Given the description of an element on the screen output the (x, y) to click on. 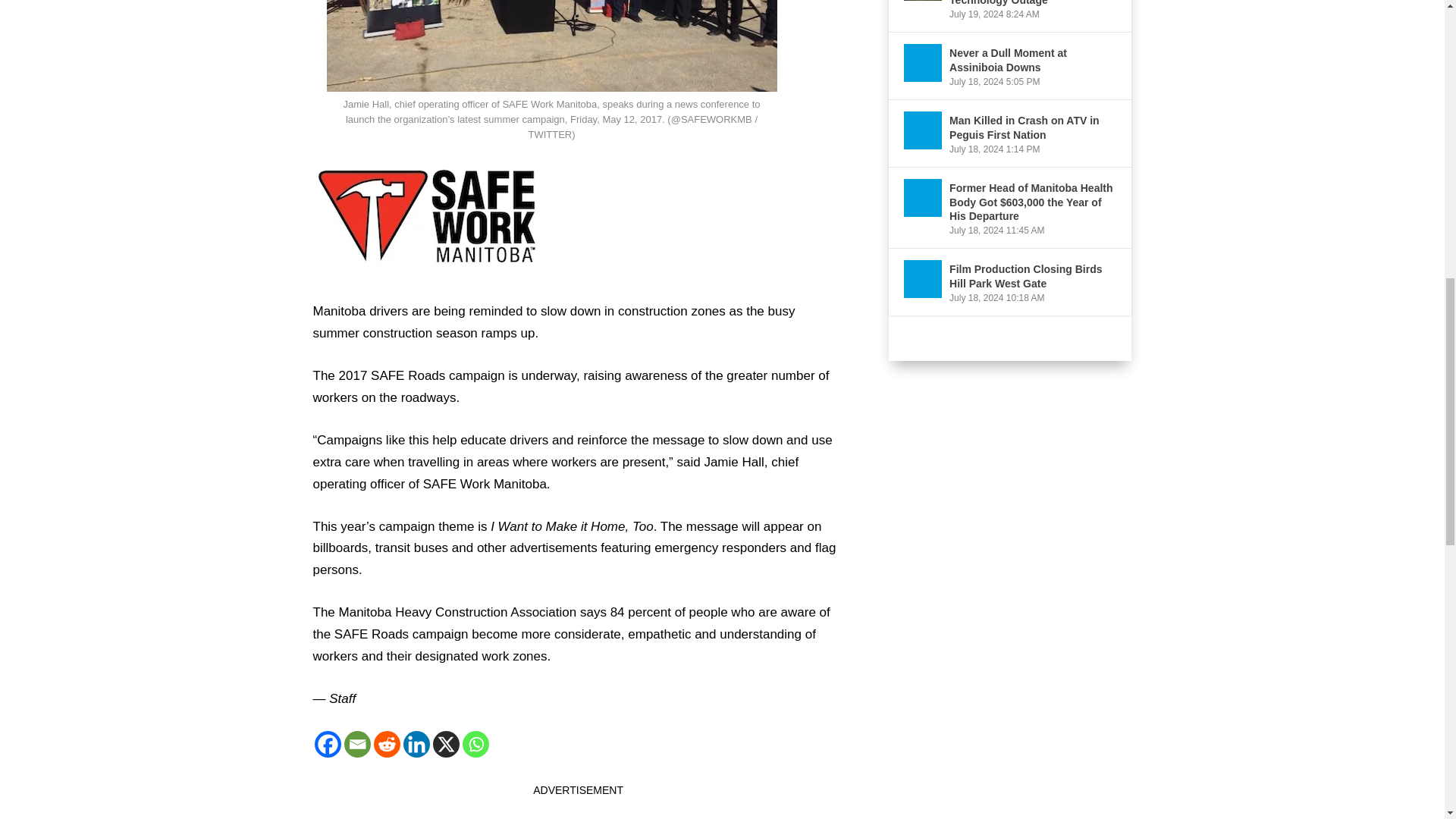
Email (357, 744)
Facebook (327, 744)
Whatsapp (476, 744)
Never a Dull Moment at Assiniboia Downs (923, 62)
Man Killed in Crash on ATV in Peguis First Nation (923, 130)
X (445, 744)
Linkedin (416, 744)
Film Production Closing Birds Hill Park West Gate (923, 279)
Reddit (385, 744)
